Given the description of an element on the screen output the (x, y) to click on. 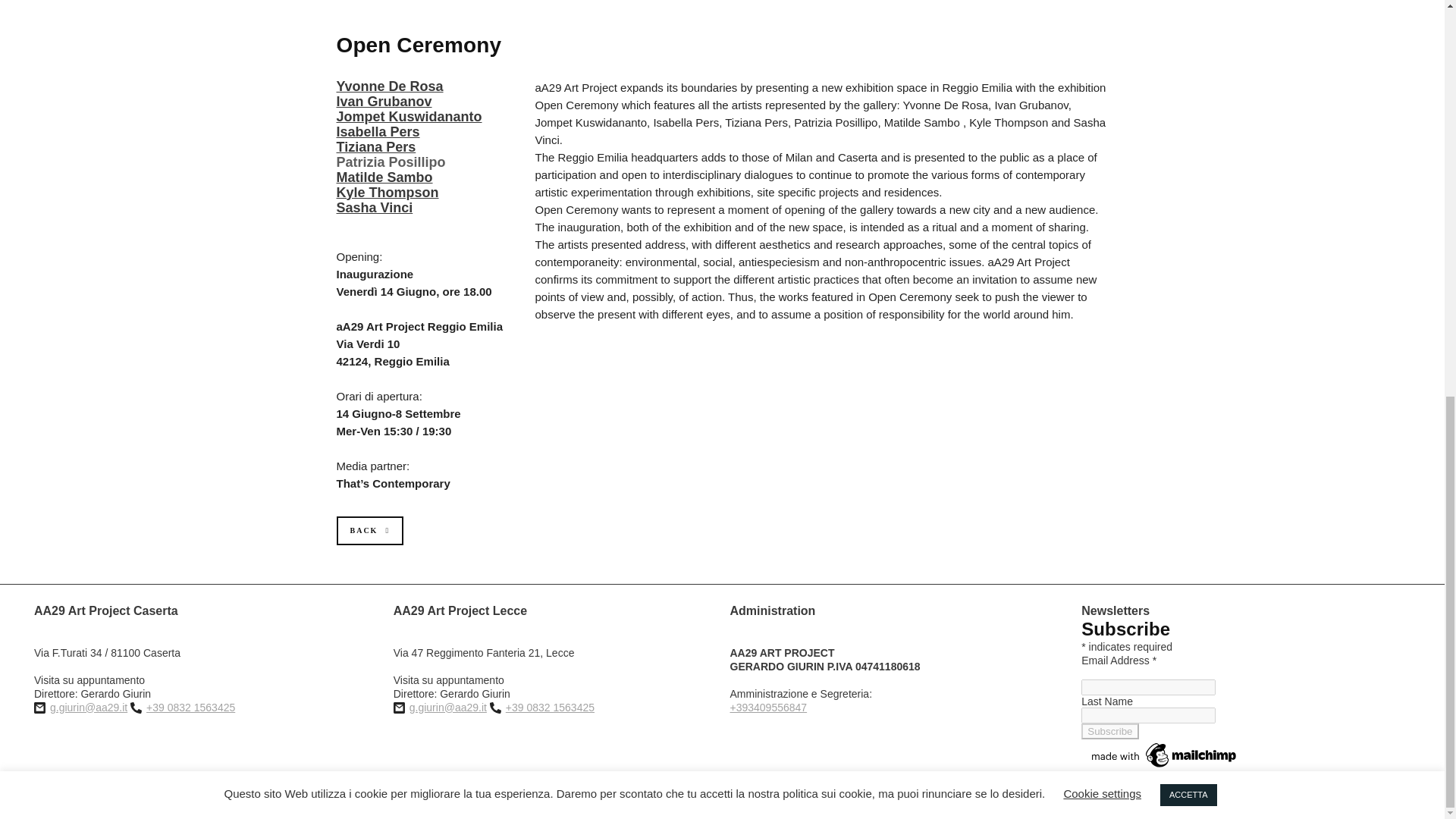
Yvonne De Rosa (390, 86)
Kyle Thompson (387, 192)
Mailchimp - email marketing made easy and fun (1164, 767)
Ivan Grubanov (384, 101)
Tiziana Pers (376, 146)
Subscribe (1109, 731)
Subscribe (1109, 731)
ACCETTA (1188, 28)
Cookie settings (1101, 26)
Jompet Kuswidananto (408, 116)
BACK (370, 530)
Sasha Vinci (374, 207)
Matilde Sambo (384, 177)
Isabella Pers (378, 131)
